Given the description of an element on the screen output the (x, y) to click on. 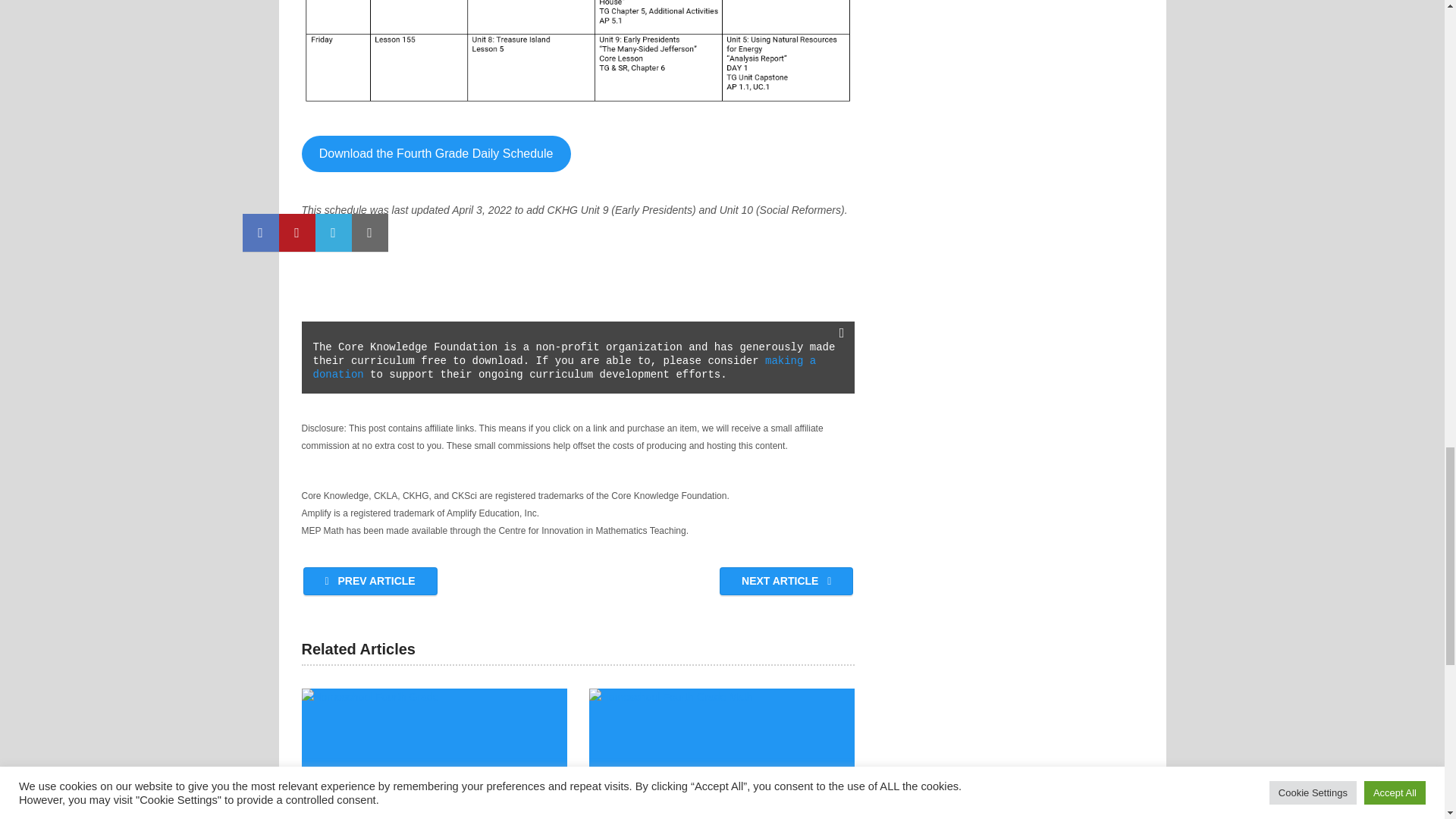
making a donation (567, 367)
Homeschool Fourth Grade Math (721, 753)
NEXT ARTICLE (786, 581)
PREV ARTICLE (370, 581)
Homeschool Fourth Grade (434, 753)
Download the Fourth Grade Daily Schedule (435, 153)
